Given the description of an element on the screen output the (x, y) to click on. 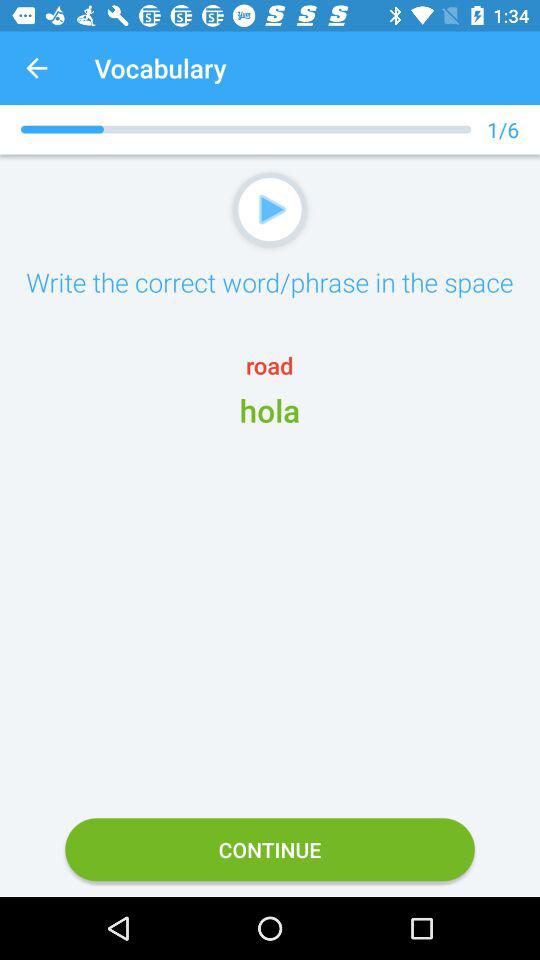
turn off app next to vocabulary app (36, 68)
